Given the description of an element on the screen output the (x, y) to click on. 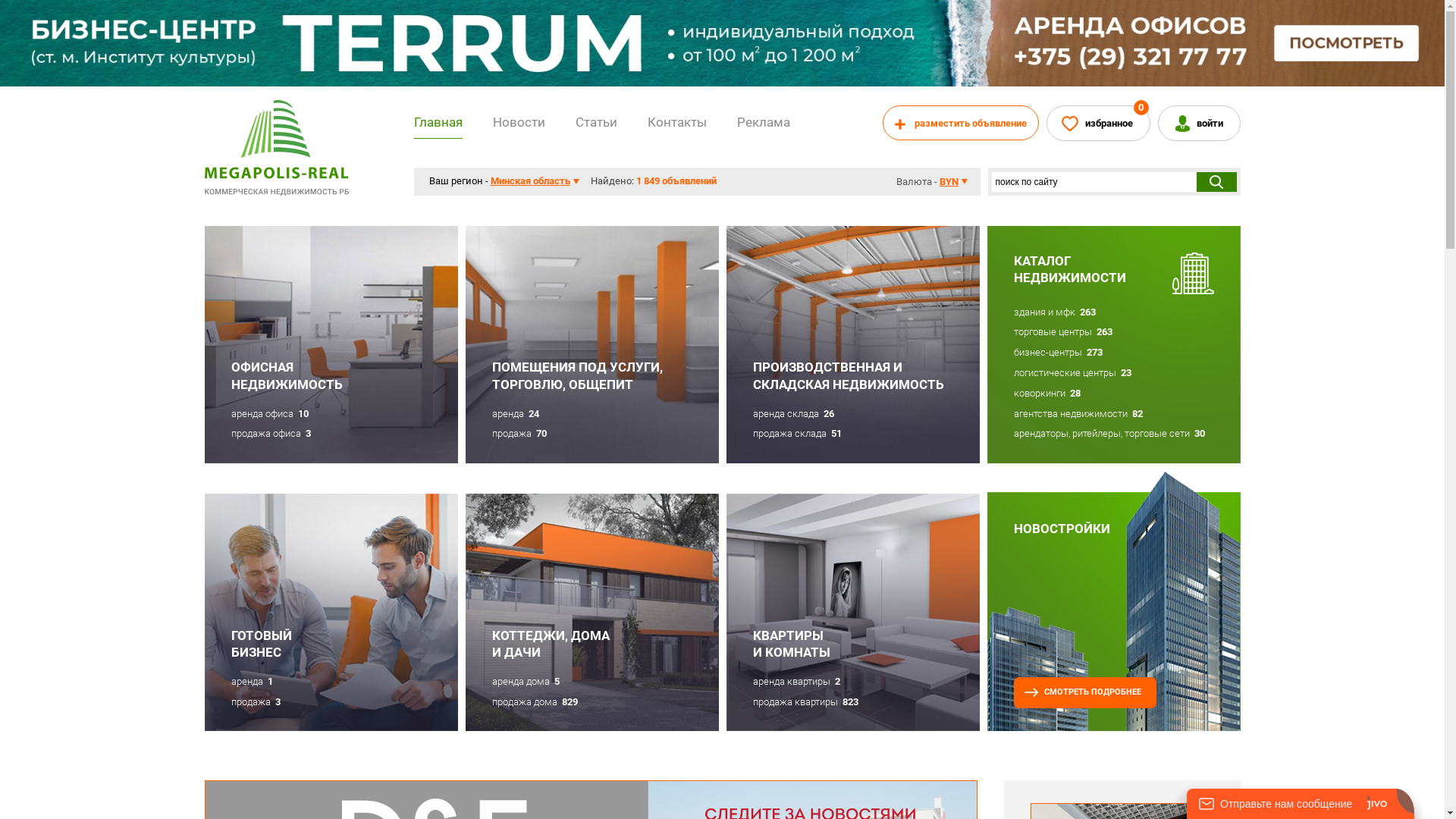
BYN Element type: text (953, 181)
